Given the description of an element on the screen output the (x, y) to click on. 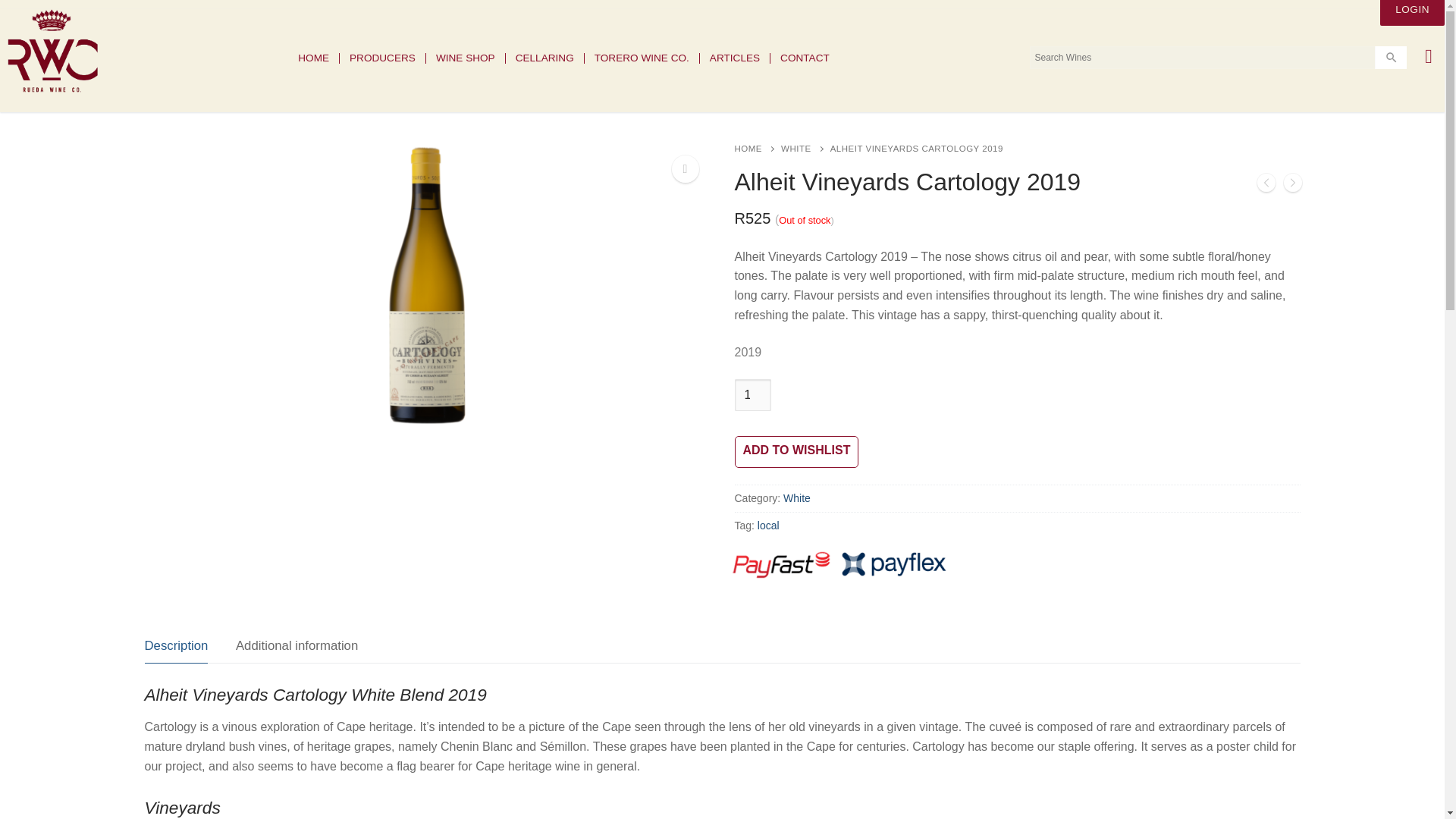
ADD TO WISHLIST (796, 451)
WHITE (804, 148)
local (767, 525)
CONTACT (805, 58)
ARTICLES (735, 58)
CELLARING (545, 58)
White (796, 498)
TORERO WINE CO. (642, 58)
WINE SHOP (465, 58)
1 (751, 395)
Description (176, 645)
Additional information (296, 645)
Alheit Vineyards Cartology (427, 285)
HOME (756, 148)
PRODUCERS (382, 58)
